Given the description of an element on the screen output the (x, y) to click on. 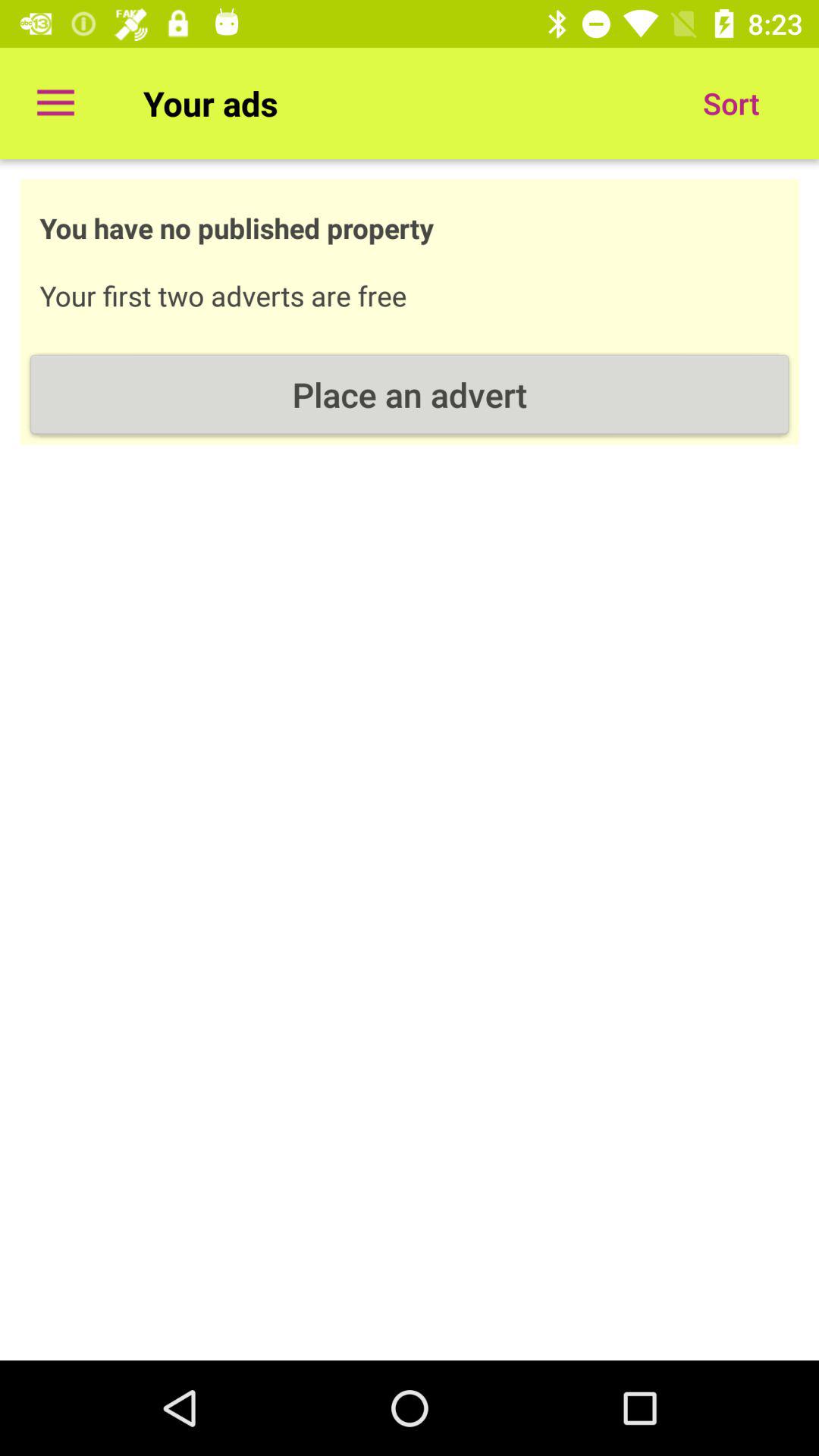
turn off sort at the top right corner (731, 103)
